Given the description of an element on the screen output the (x, y) to click on. 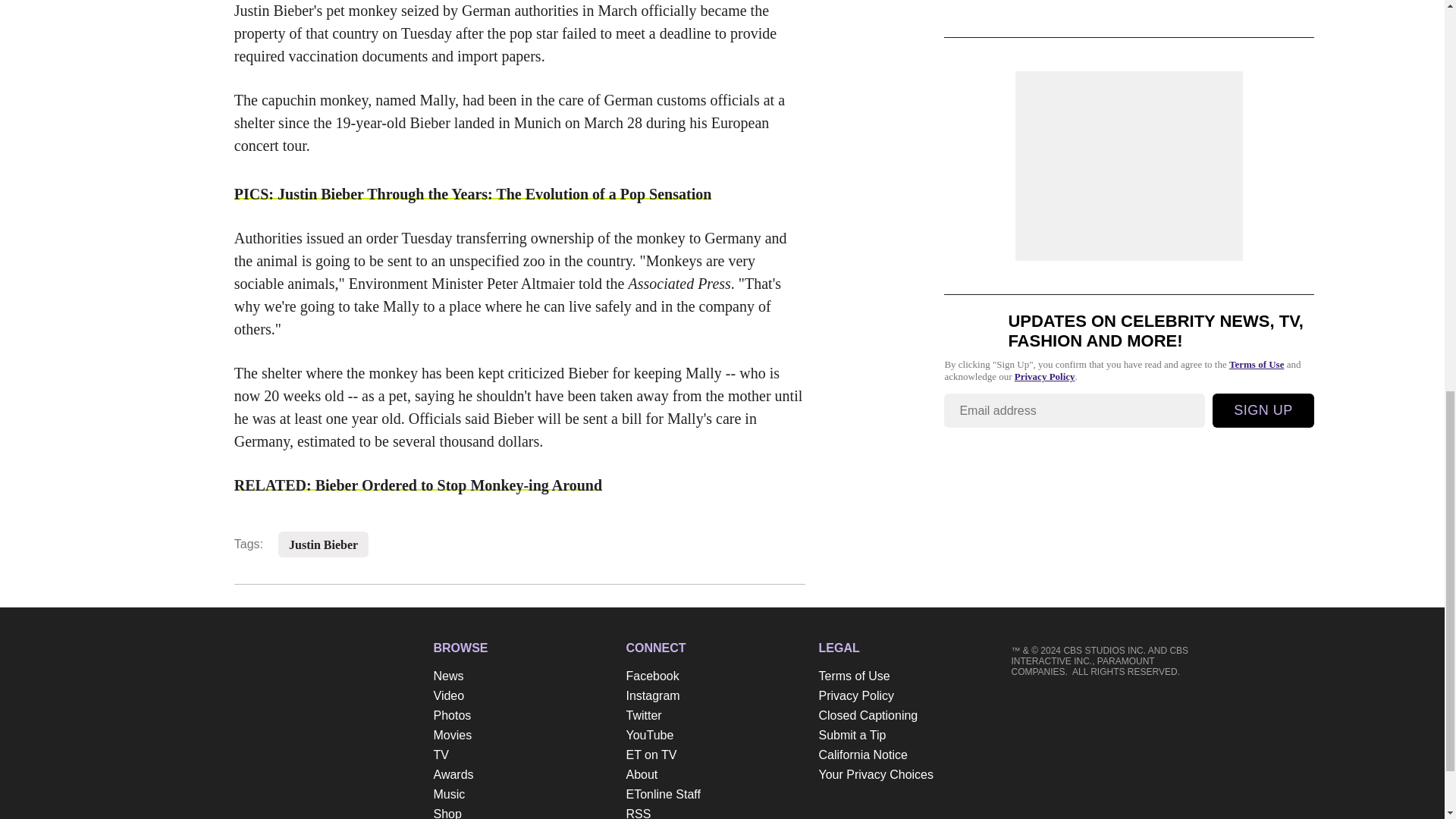
Movies (522, 735)
News (522, 676)
Justin Bieber (323, 544)
TV (522, 754)
RELATED: Bieber Ordered to Stop Monkey-ing Around (418, 484)
Awards (522, 774)
Photos (522, 715)
Video (522, 695)
Music (522, 794)
